Given the description of an element on the screen output the (x, y) to click on. 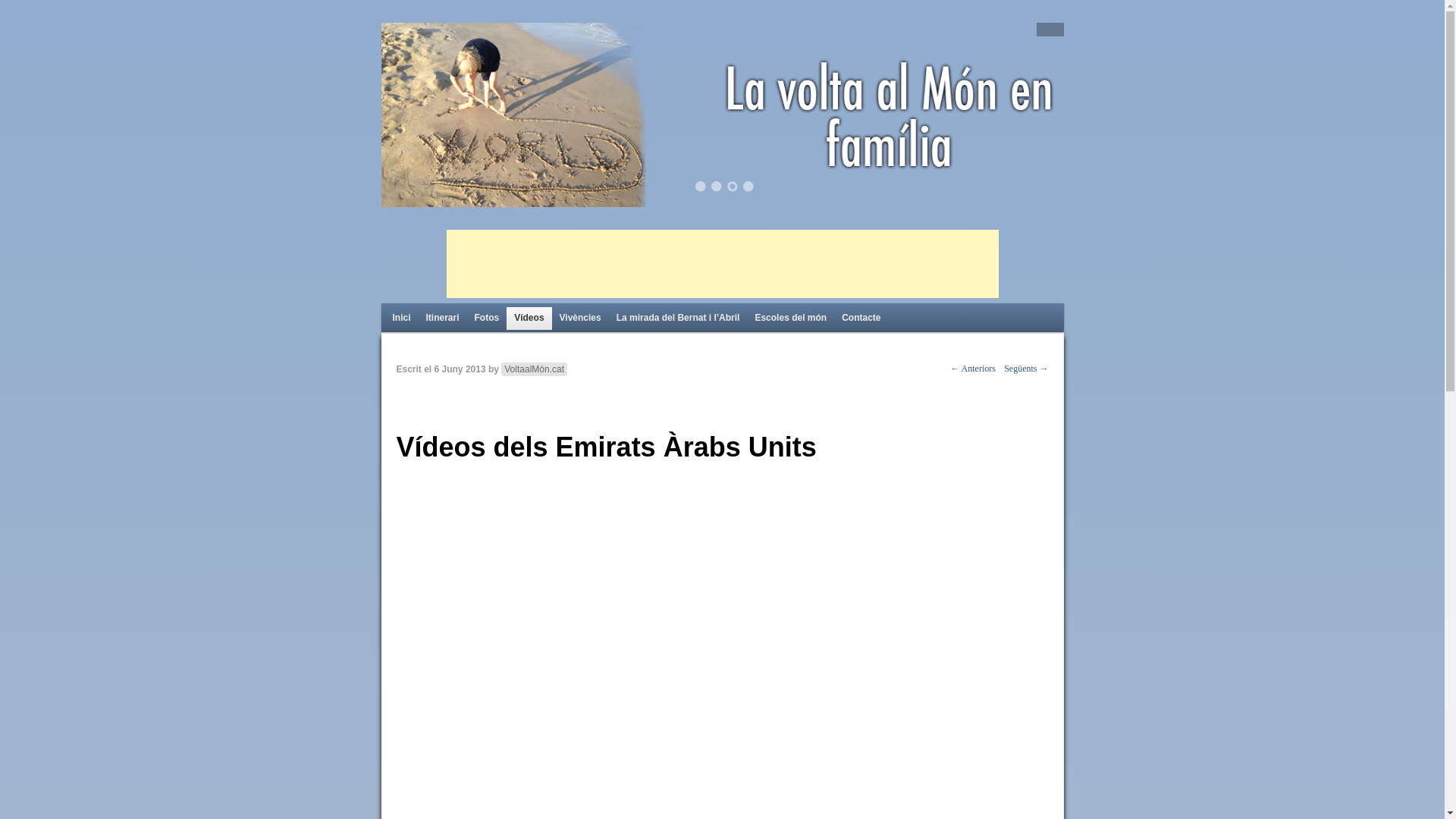
Contacte Element type: text (861, 318)
Fotos Element type: text (487, 318)
Aneu al contingut secundari Element type: text (456, 316)
Itinerari Element type: text (442, 318)
4 Element type: text (748, 186)
3 Element type: text (732, 186)
Inici Element type: text (401, 318)
Advertisement Element type: hover (721, 263)
Aneu al contingut principal Element type: text (454, 316)
2 Element type: text (716, 186)
1 Element type: text (700, 186)
